Given the description of an element on the screen output the (x, y) to click on. 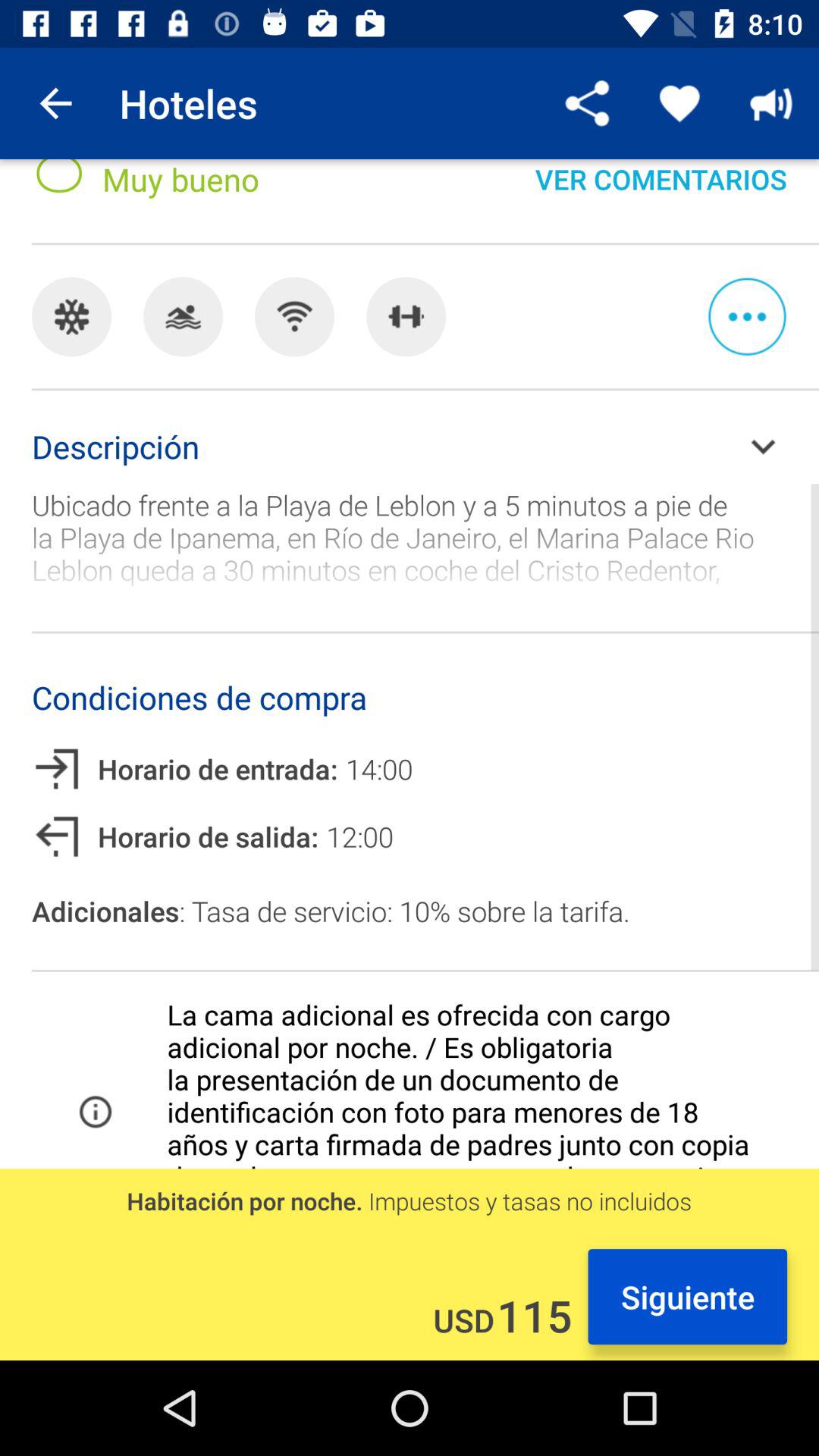
click icon to the left of the hoteles icon (55, 103)
